Given the description of an element on the screen output the (x, y) to click on. 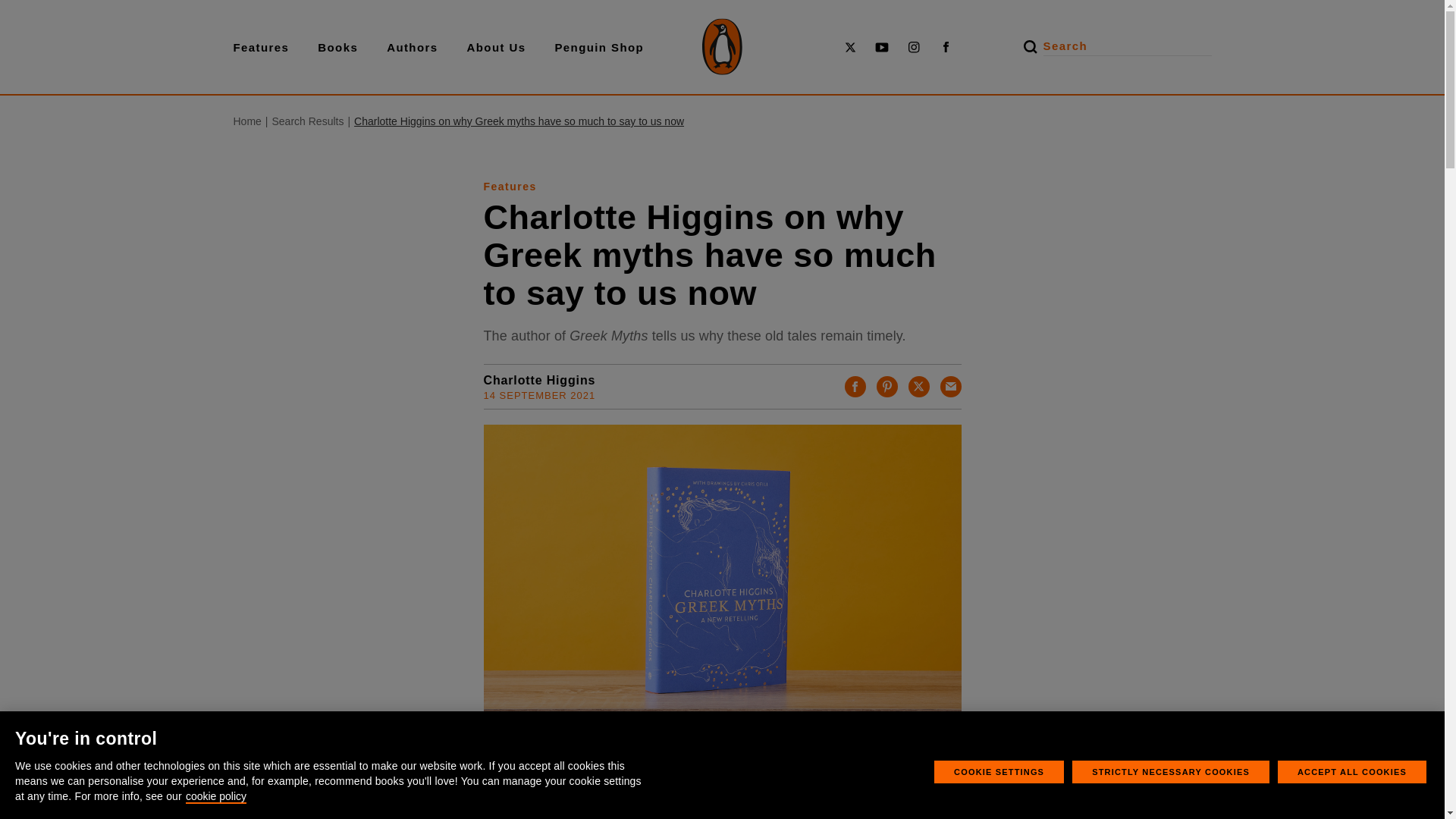
Authors (412, 47)
Search Results (306, 121)
Email (950, 386)
Twitter (919, 386)
Home (247, 121)
About Us (496, 47)
Books (337, 47)
Penguin Shop (598, 47)
Facebook (855, 386)
Pinterest (887, 386)
Features (260, 47)
